Given the description of an element on the screen output the (x, y) to click on. 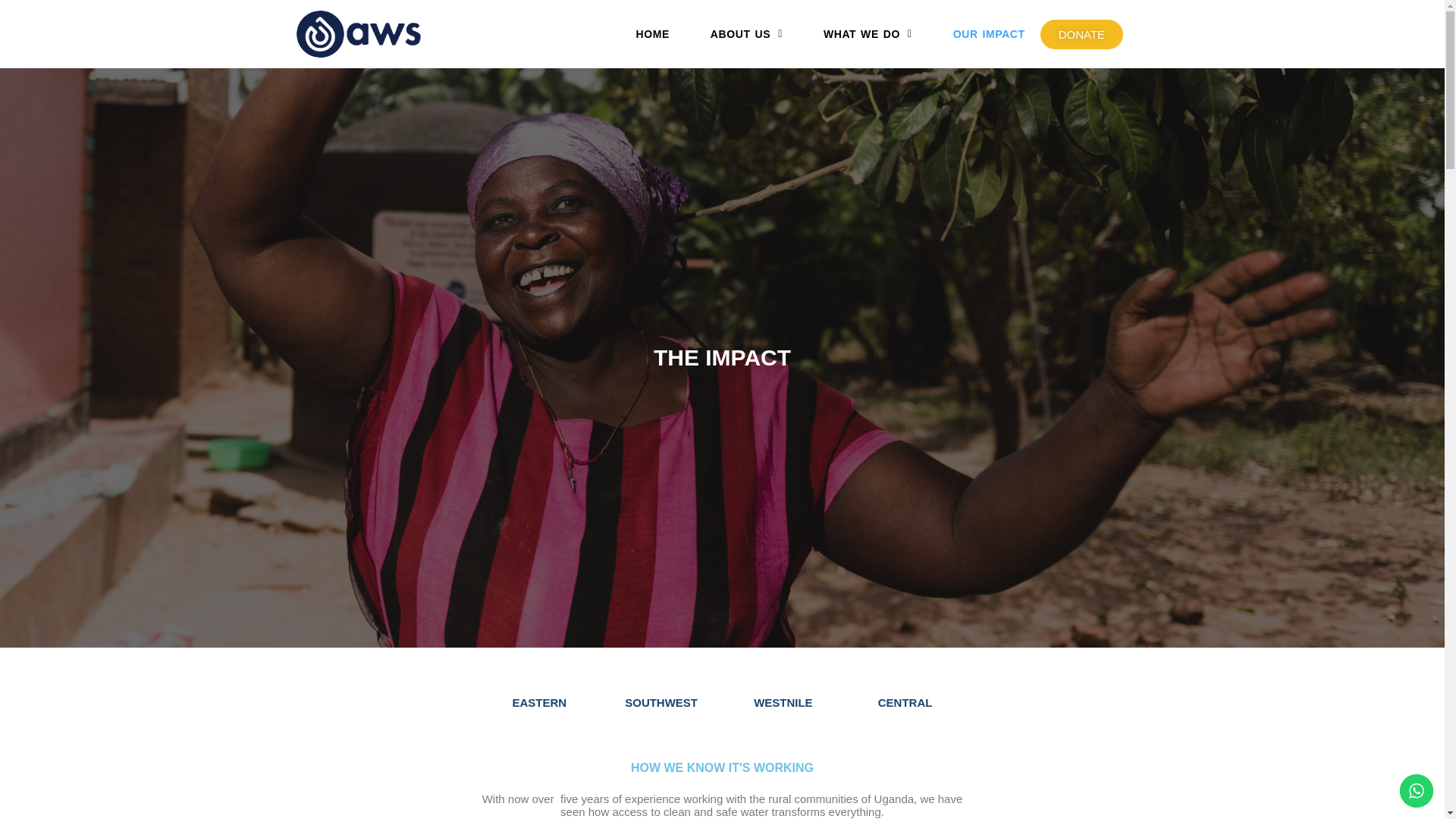
WHAT WE DO (867, 34)
ABOUT US (746, 34)
DONATE (1081, 34)
OUR IMPACT (989, 34)
HOME (652, 34)
